Given the description of an element on the screen output the (x, y) to click on. 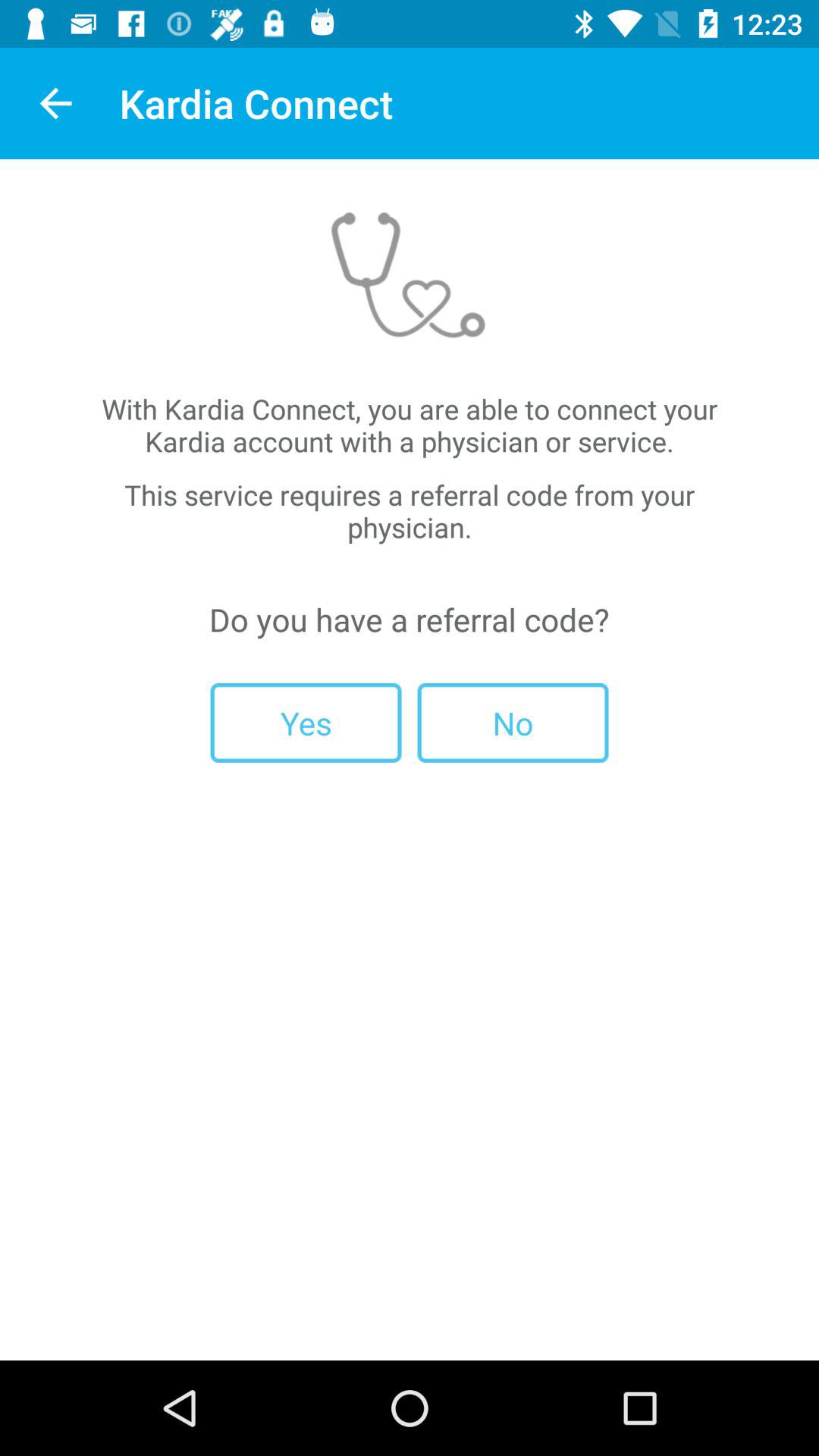
turn off icon below do you have icon (512, 722)
